Given the description of an element on the screen output the (x, y) to click on. 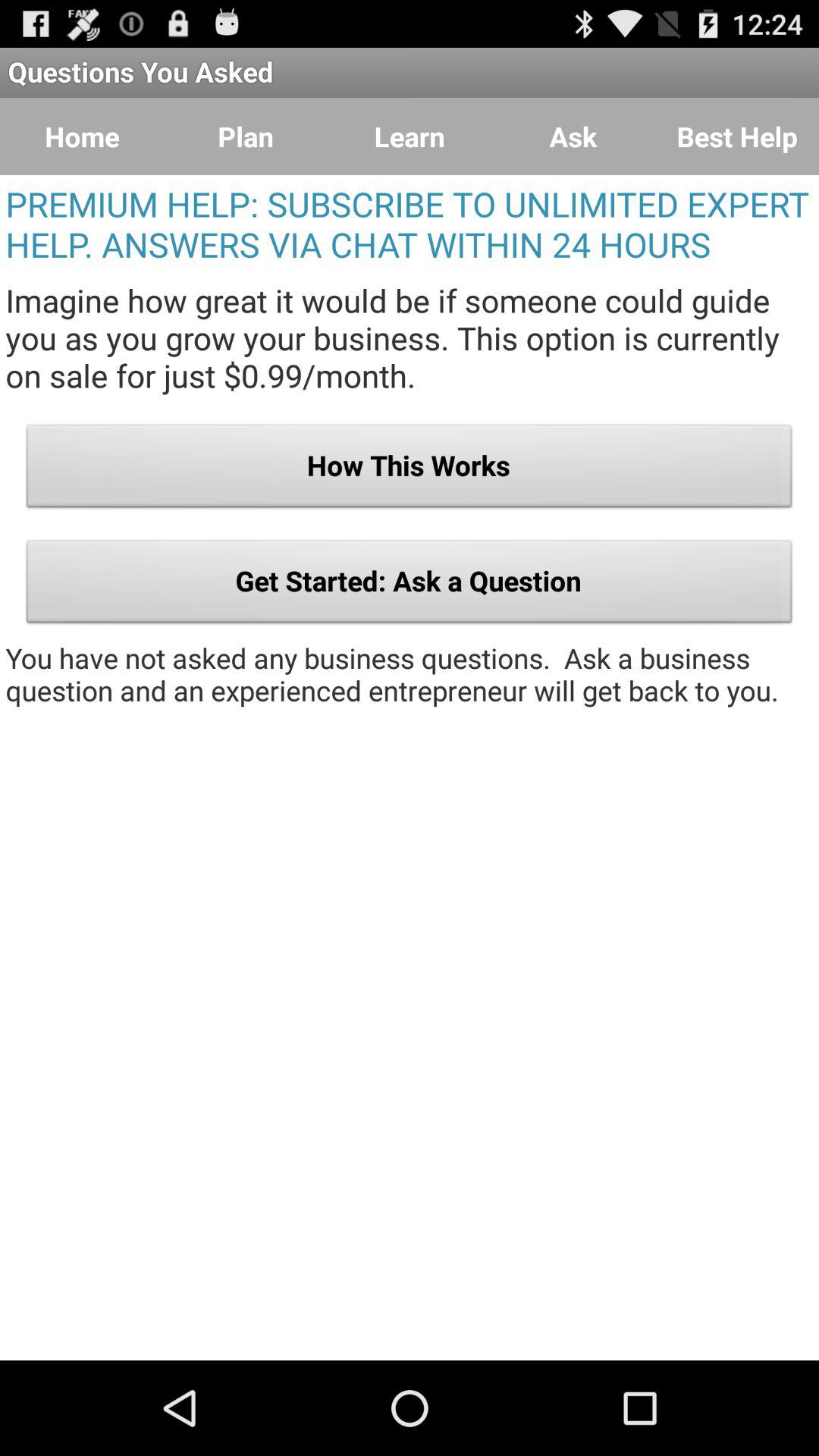
press icon below the questions you asked (737, 136)
